Given the description of an element on the screen output the (x, y) to click on. 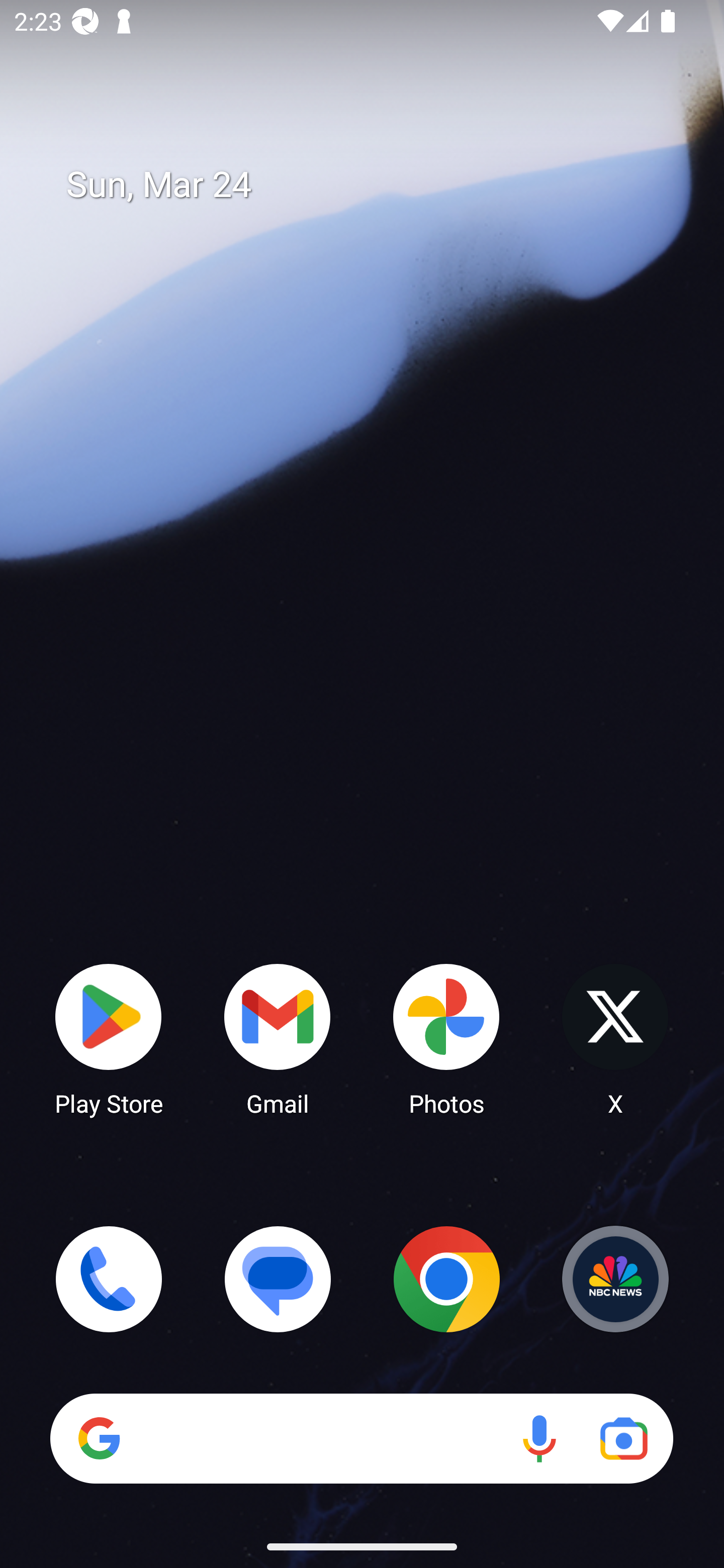
Sun, Mar 24 (375, 184)
Play Store (108, 1038)
Gmail (277, 1038)
Photos (445, 1038)
X (615, 1038)
Phone (108, 1279)
Messages (277, 1279)
Chrome (446, 1279)
NBC NEWS Predicted app: NBC NEWS (615, 1279)
Voice search (539, 1438)
Google Lens (623, 1438)
